Given the description of an element on the screen output the (x, y) to click on. 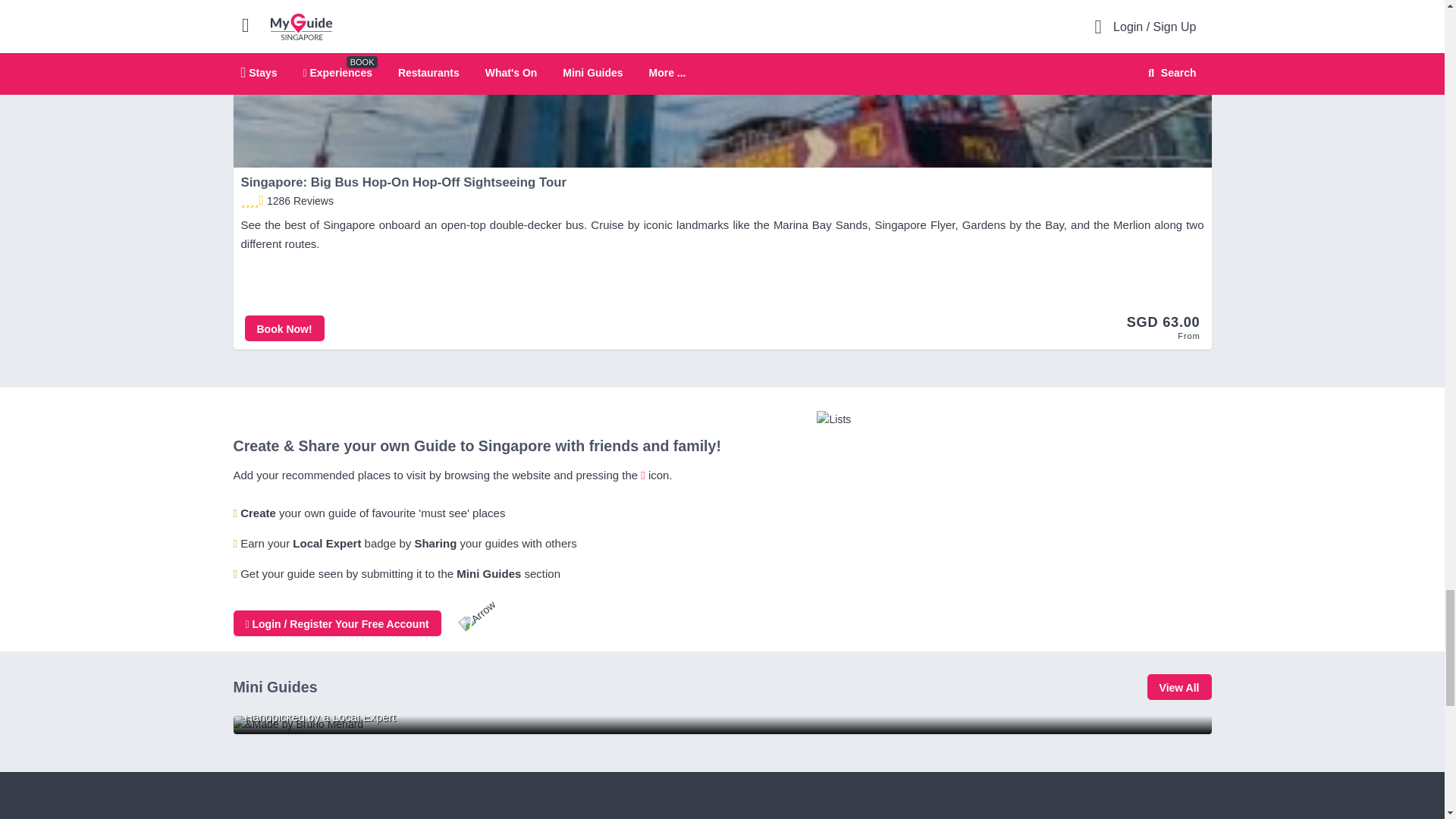
My Guide to Singapore (721, 724)
